Given the description of an element on the screen output the (x, y) to click on. 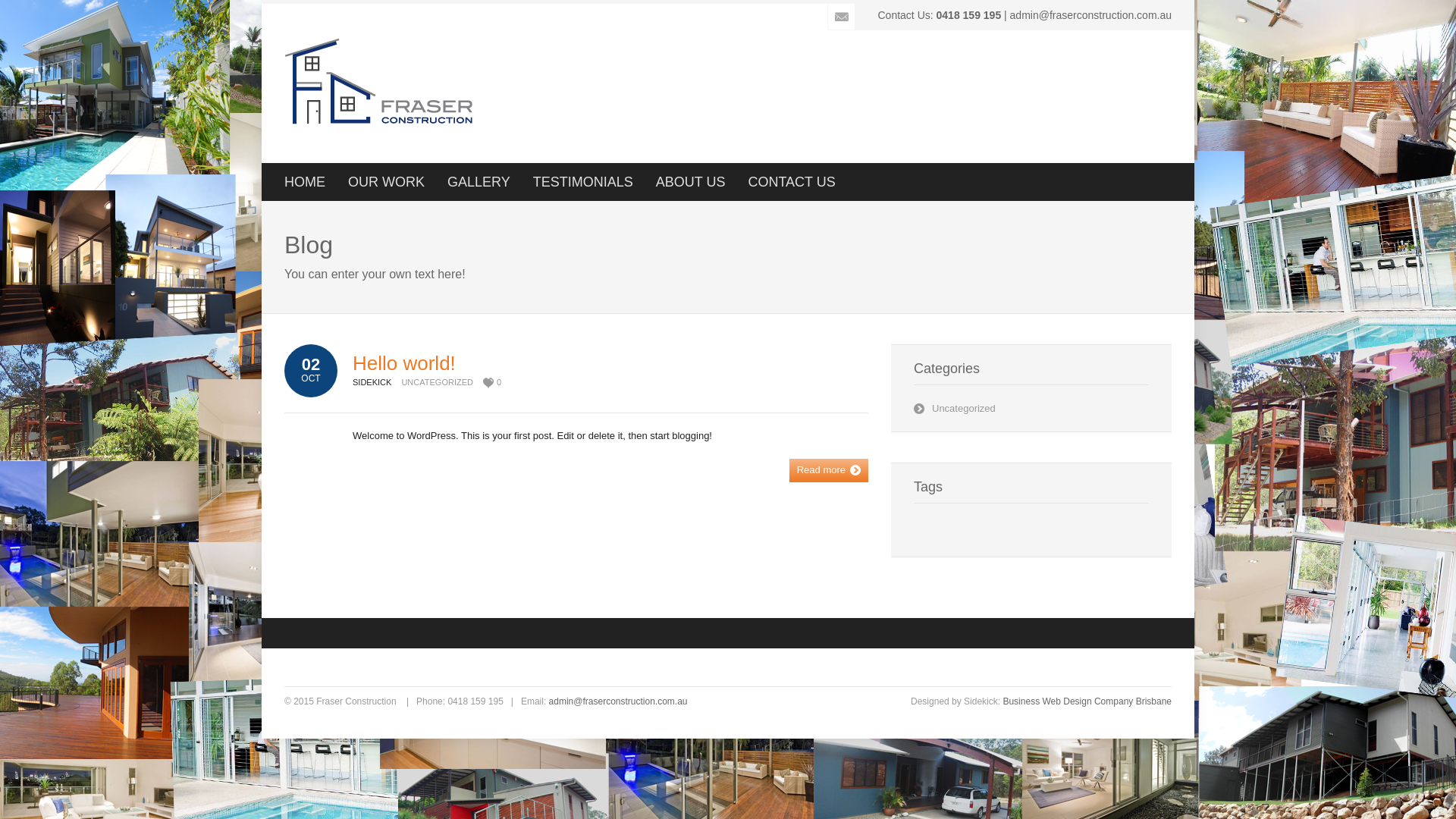
Read more Element type: text (828, 470)
GALLERY Element type: text (478, 181)
Contact Element type: hover (841, 16)
CONTACT US Element type: text (790, 181)
OUR WORK Element type: text (386, 181)
Business Web Design Company Brisbane Element type: text (1086, 701)
0 Element type: text (492, 381)
ABOUT US Element type: text (690, 181)
UNCATEGORIZED Element type: text (437, 381)
Uncategorized Element type: text (963, 408)
HOME Element type: text (304, 181)
Hello world! Element type: text (403, 362)
TESTIMONIALS Element type: text (583, 181)
admin@fraserconstruction.com.au Element type: text (618, 701)
